Given the description of an element on the screen output the (x, y) to click on. 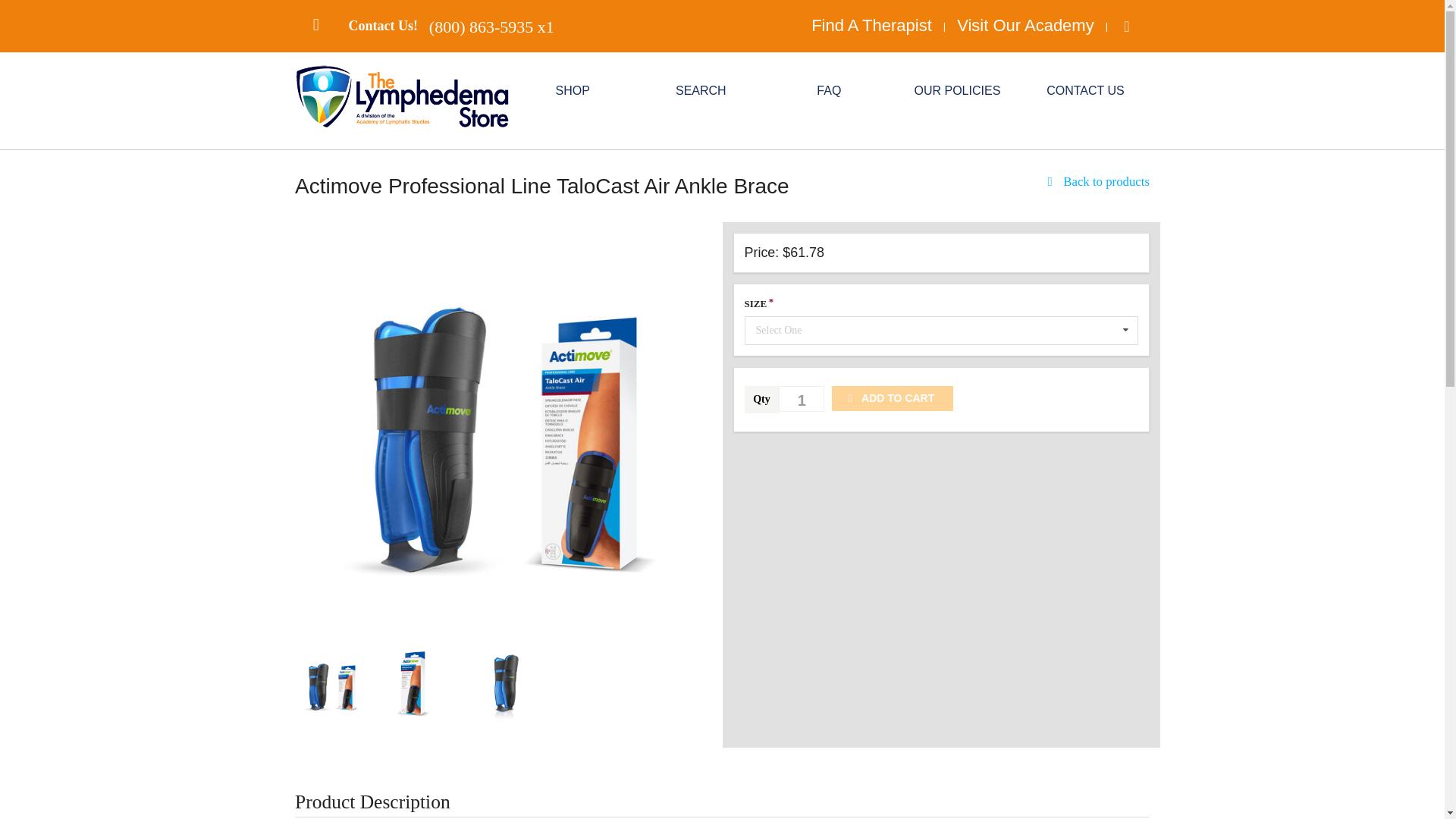
OUR POLICIES (957, 91)
SHOP (572, 91)
Back to products (1096, 181)
Visit Our Academy (1025, 25)
1 (801, 398)
CONTACT US (1085, 91)
FAQ (828, 91)
Find A Therapist (870, 25)
SEARCH (700, 91)
